Given the description of an element on the screen output the (x, y) to click on. 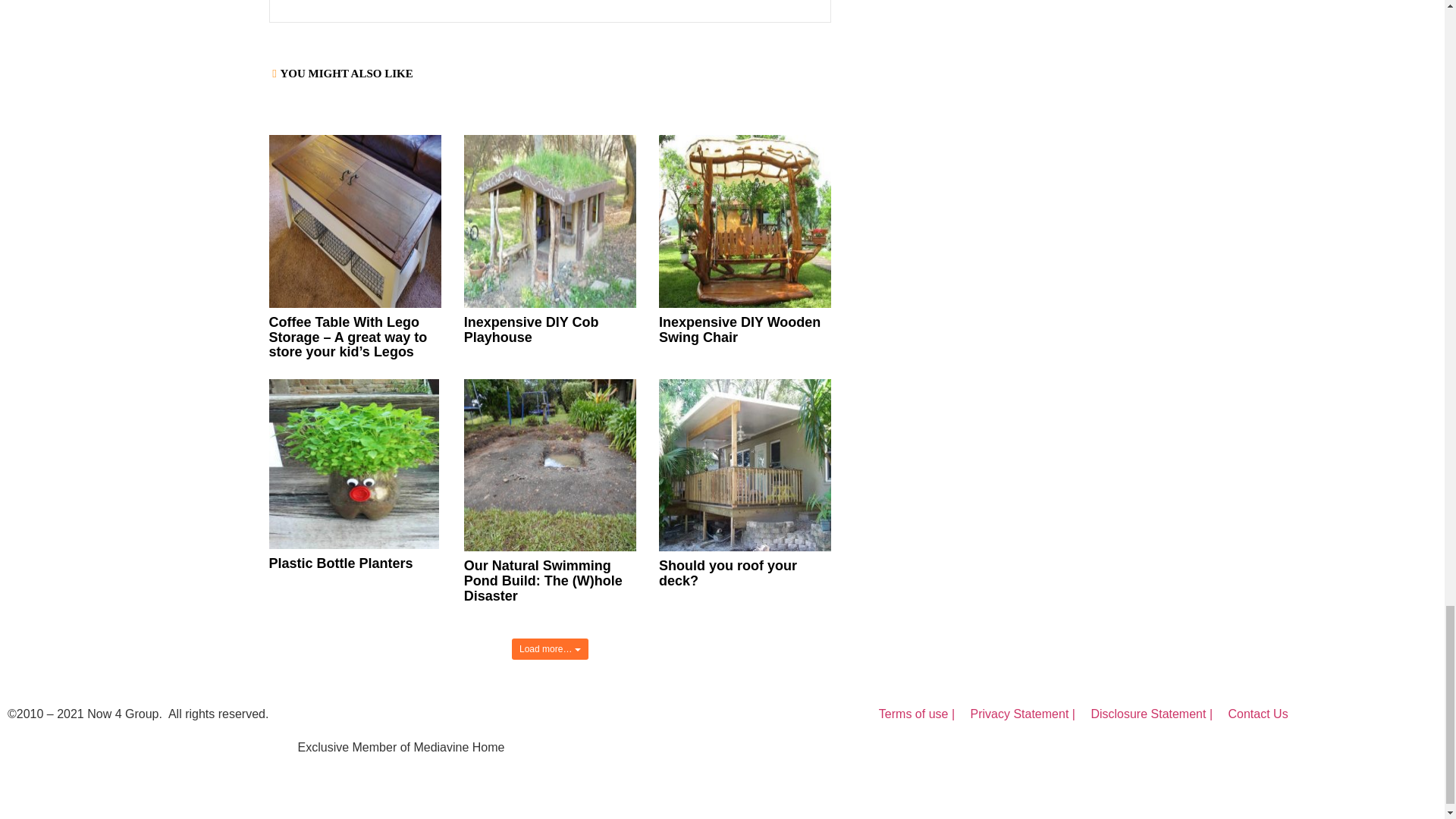
Inexpensive DIY Cob Playhouse (531, 329)
Should you roof your deck? (727, 572)
Inexpensive DIY Wooden Swing Chair (740, 329)
Plastic Bottle Planters (339, 563)
